Given the description of an element on the screen output the (x, y) to click on. 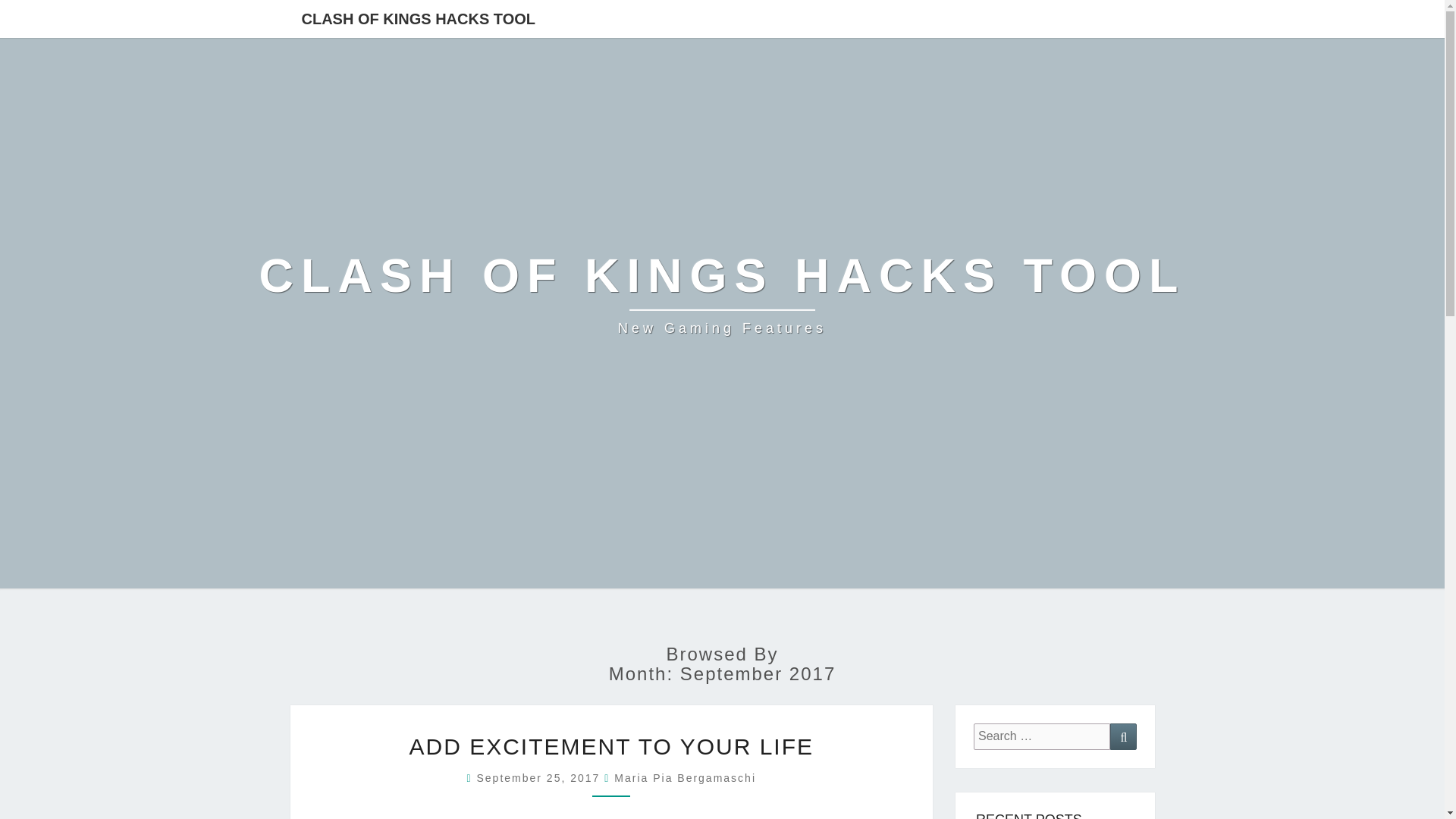
CLASH OF KINGS HACKS TOOL (418, 18)
View all posts by Maria Pia Bergamaschi (684, 777)
Search for: (1041, 736)
Clash Of Kings Hacks Tool (722, 294)
ADD EXCITEMENT TO YOUR LIFE (722, 294)
Maria Pia Bergamaschi (611, 746)
Search (684, 777)
4:12 am (1123, 736)
September 25, 2017 (540, 777)
